Given the description of an element on the screen output the (x, y) to click on. 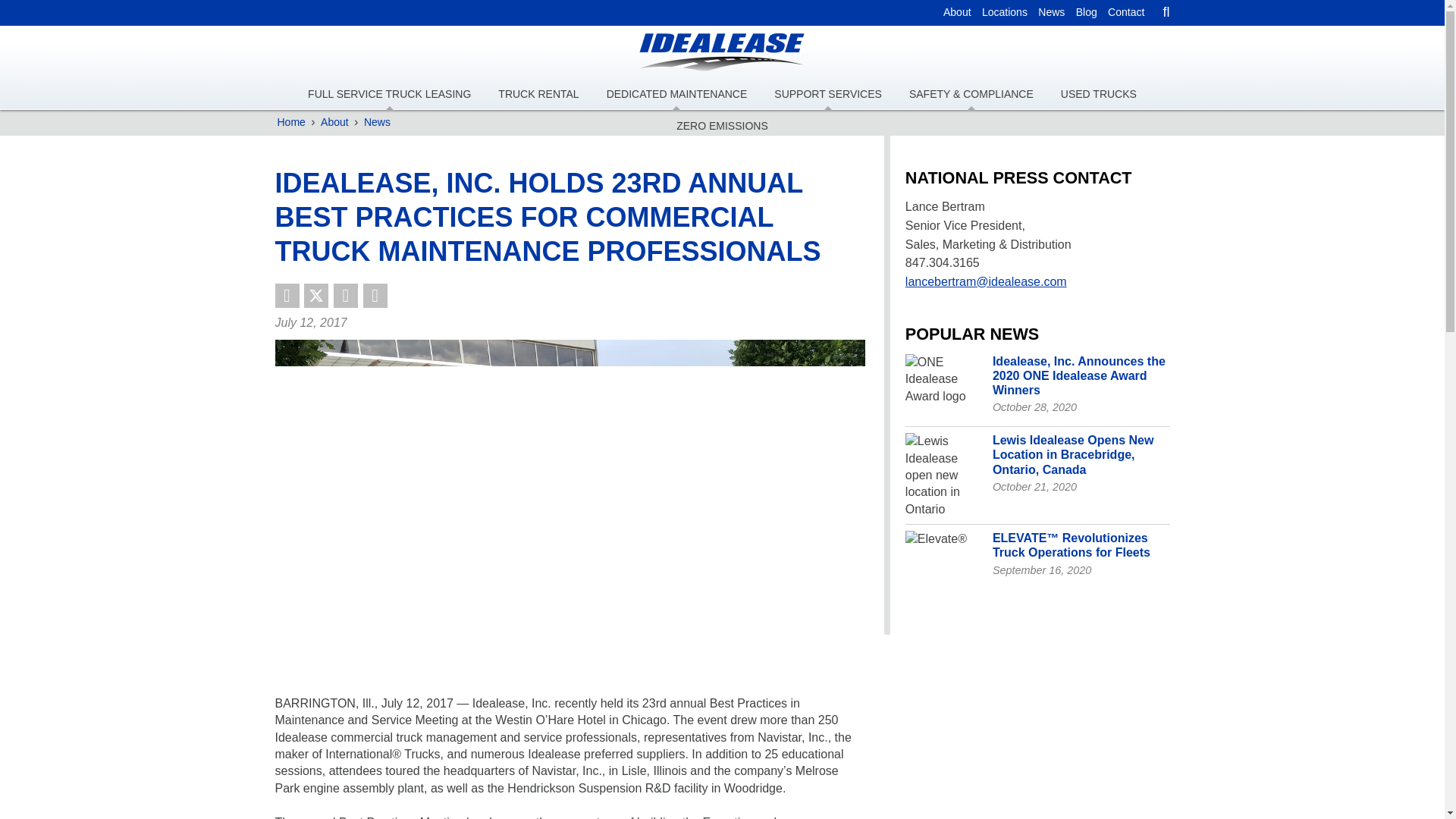
About Idealease (957, 12)
DEDICATED MAINTENANCE (676, 94)
Home (291, 122)
Locations (1004, 12)
Share on Twitter (316, 295)
Contact (1125, 12)
FULL SERVICE TRUCK LEASING (389, 94)
Contact Idealease (1125, 12)
USED TRUCKS (1098, 94)
Send via Email (374, 295)
Blog (1085, 12)
Home (291, 122)
TRUCK RENTAL (538, 94)
ZERO EMISSIONS (721, 126)
About (334, 122)
